Given the description of an element on the screen output the (x, y) to click on. 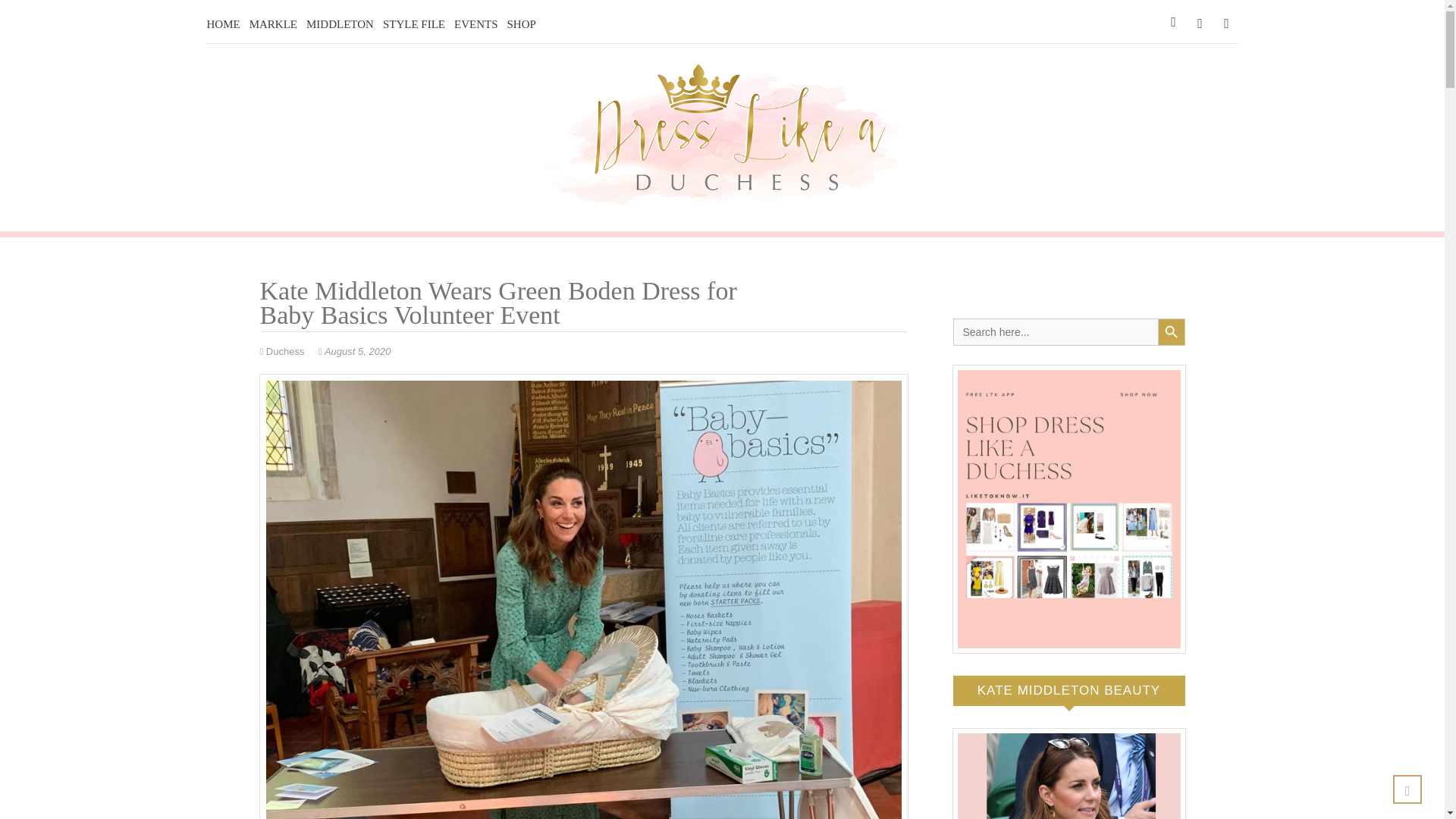
Duchess (283, 351)
August 5, 2020 (354, 351)
Dress Like A Duchess (688, 222)
7:21 pm (354, 351)
EVENTS (475, 24)
Search Button (1171, 331)
SHOP (520, 24)
Dress Like A Duchess (688, 222)
MARKLE (272, 24)
STYLE FILE (413, 24)
MIDDLETON (339, 24)
Duchess (283, 351)
Go to Top (1407, 788)
HOME (223, 24)
